Given the description of an element on the screen output the (x, y) to click on. 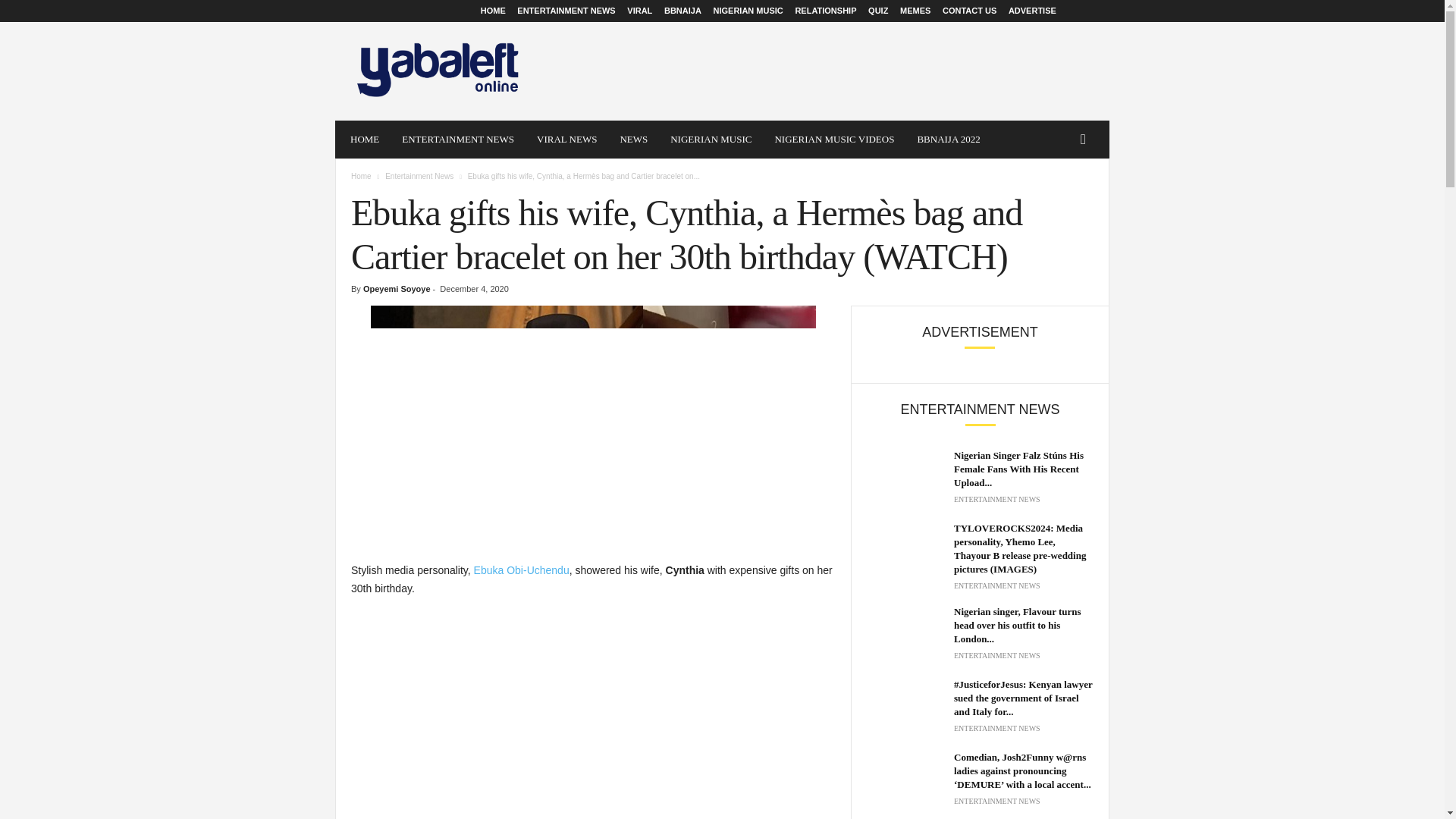
ADVERTISE (1033, 10)
yabaleftonline logo (437, 70)
HOME (492, 10)
NIGERIAN MUSIC (710, 139)
VIRAL (639, 10)
BBNAIJA (682, 10)
ENTERTAINMENT NEWS (457, 139)
RELATIONSHIP (825, 10)
Ebka wife gift (593, 418)
NEWS (633, 139)
